Given the description of an element on the screen output the (x, y) to click on. 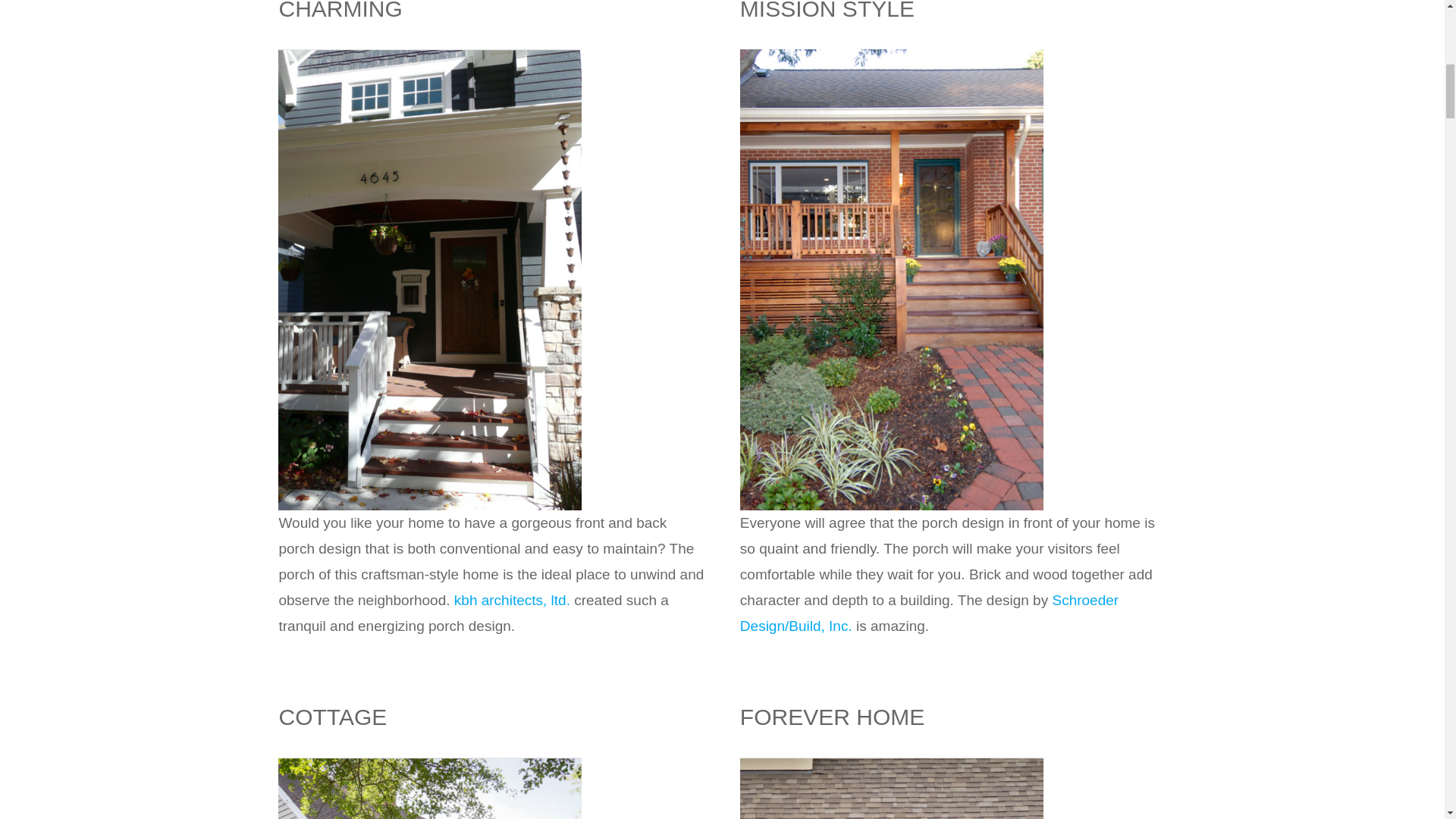
front-back-porch-ideas-sebring-design-build-2 (891, 56)
front-back-porch-ideas-sebring-design-build-1 (429, 56)
front-back-porch-ideas-sebring-design-build-3 (429, 764)
front-back-porch-ideas-sebring-design-build-4 (891, 764)
